Given the description of an element on the screen output the (x, y) to click on. 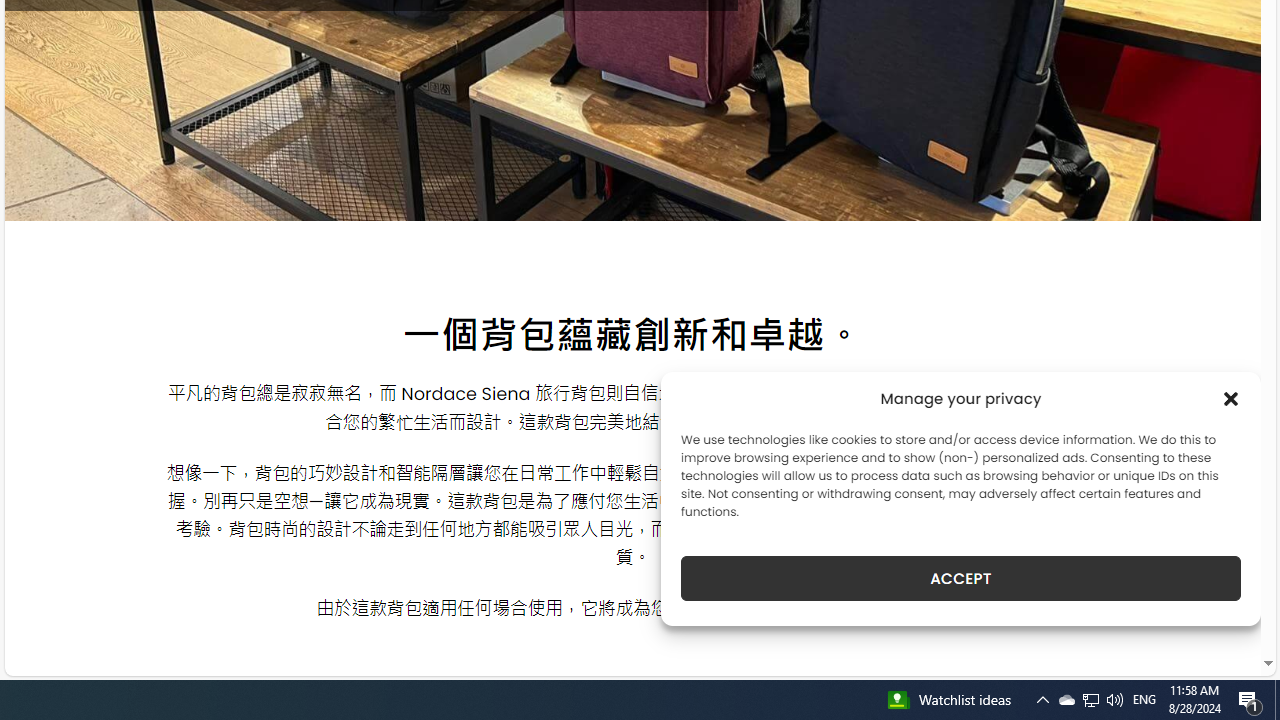
ACCEPT (960, 578)
Class: cmplz-close (1231, 398)
